Given the description of an element on the screen output the (x, y) to click on. 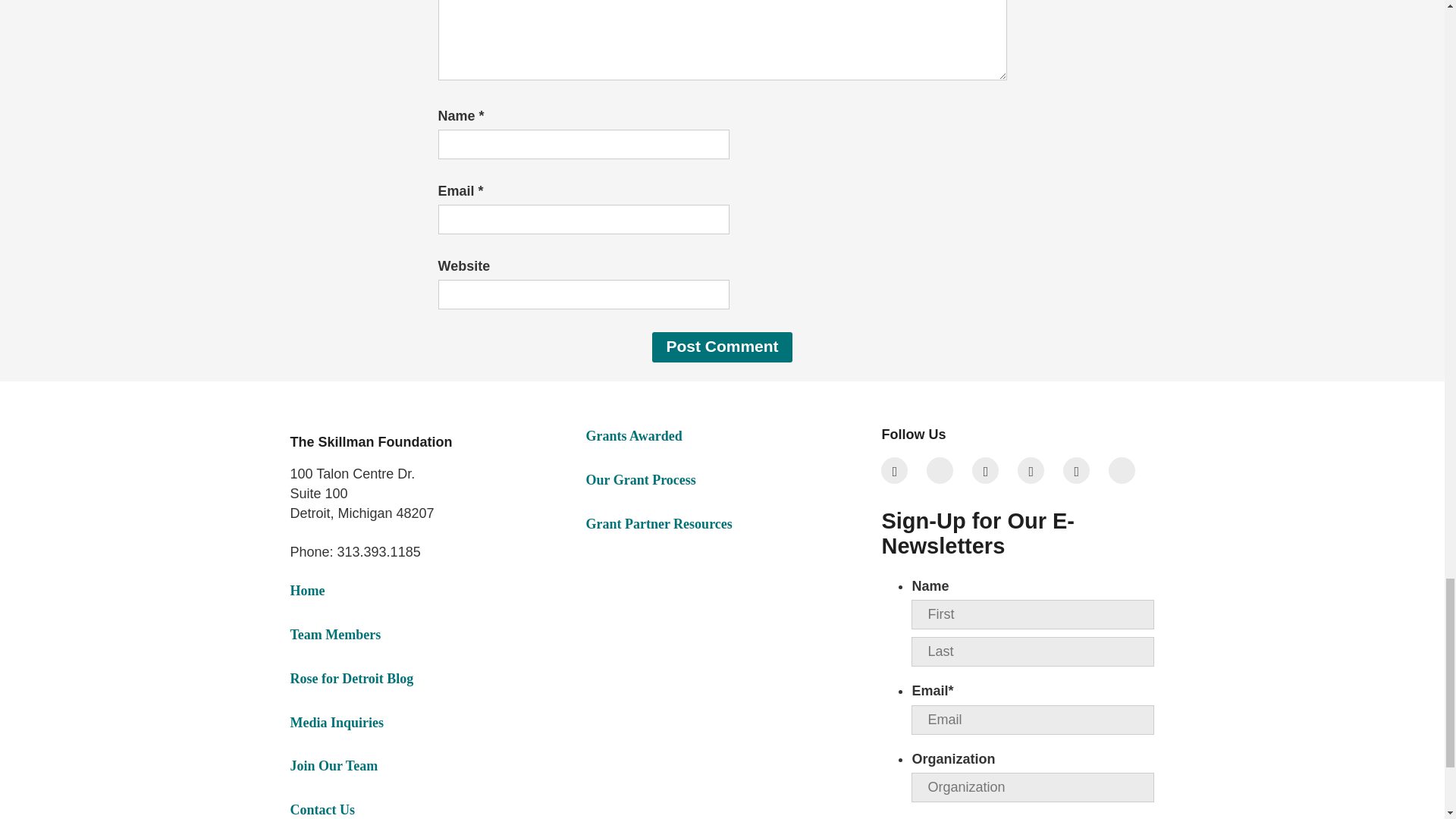
Post Comment (722, 347)
Post Comment (722, 347)
Home (306, 590)
Rose for Detroit Blog (351, 678)
Team Members (334, 634)
